Given the description of an element on the screen output the (x, y) to click on. 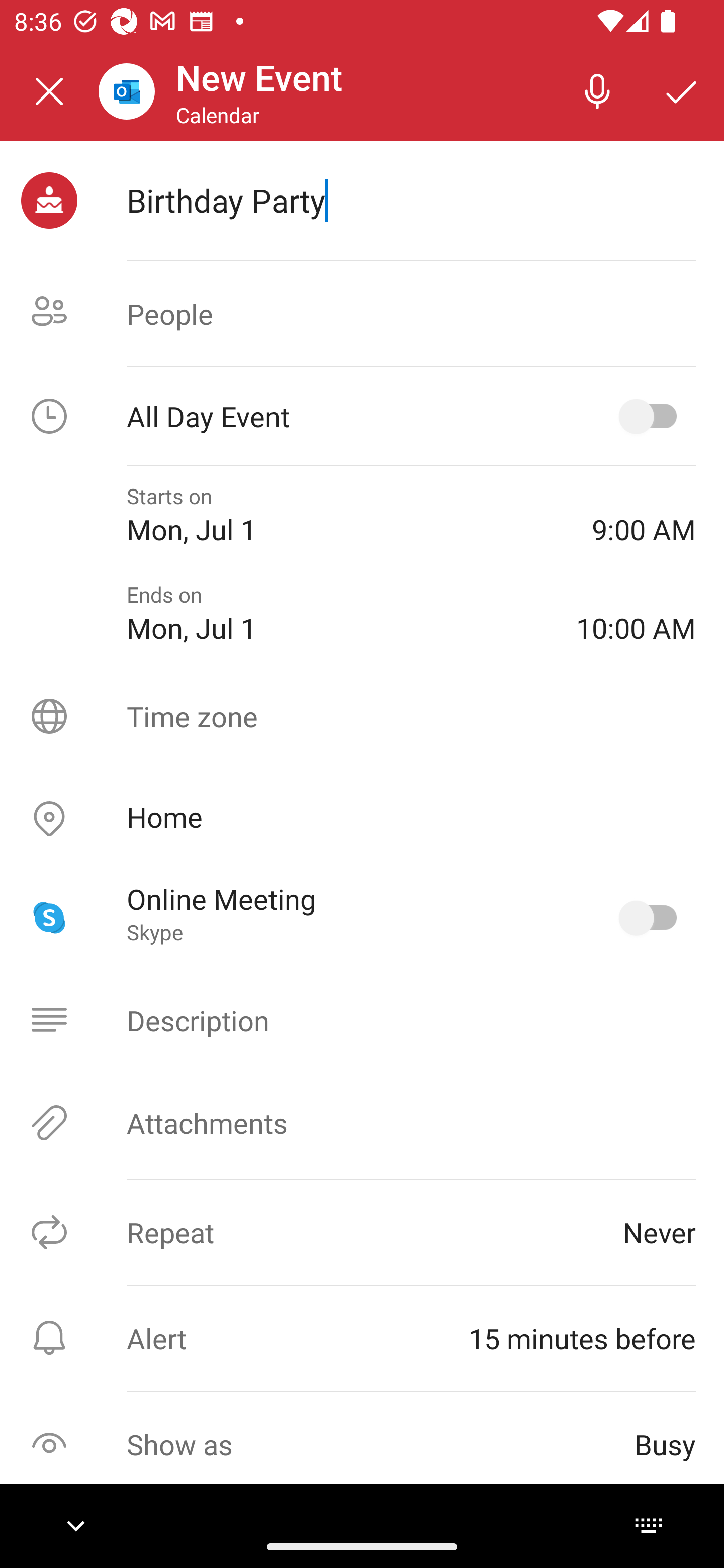
Close (49, 91)
Save (681, 90)
Birthday Party (410, 200)
birthday selected, event icon picker (48, 200)
People (362, 313)
All Day Event (362, 415)
Starts on Mon, Jul 1 (344, 514)
9:00 AM (643, 514)
Ends on Mon, Jul 1 (336, 613)
10:00 AM (635, 613)
Time zone (362, 715)
Location, Home Home (362, 818)
Online Meeting, Skype selected (651, 917)
Description (362, 1019)
Attachments (362, 1122)
Repeat Never (362, 1232)
Alert ⁨15 minutes before (362, 1337)
Show as Busy (362, 1444)
